Given the description of an element on the screen output the (x, y) to click on. 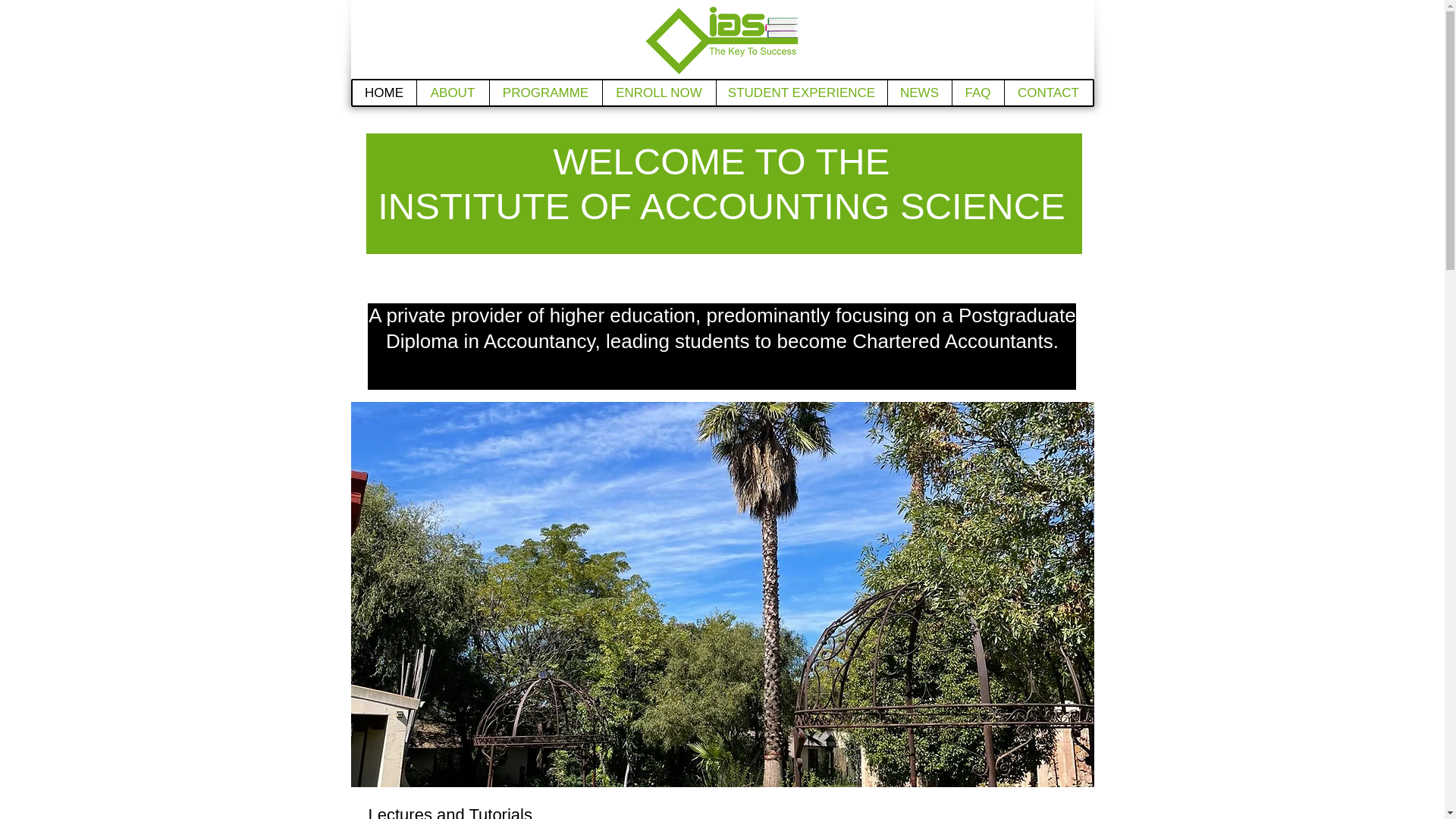
CONTACT (1048, 92)
FAQ (976, 92)
HOME (383, 92)
NEWS (919, 92)
ENROLL NOW (659, 92)
